Given the description of an element on the screen output the (x, y) to click on. 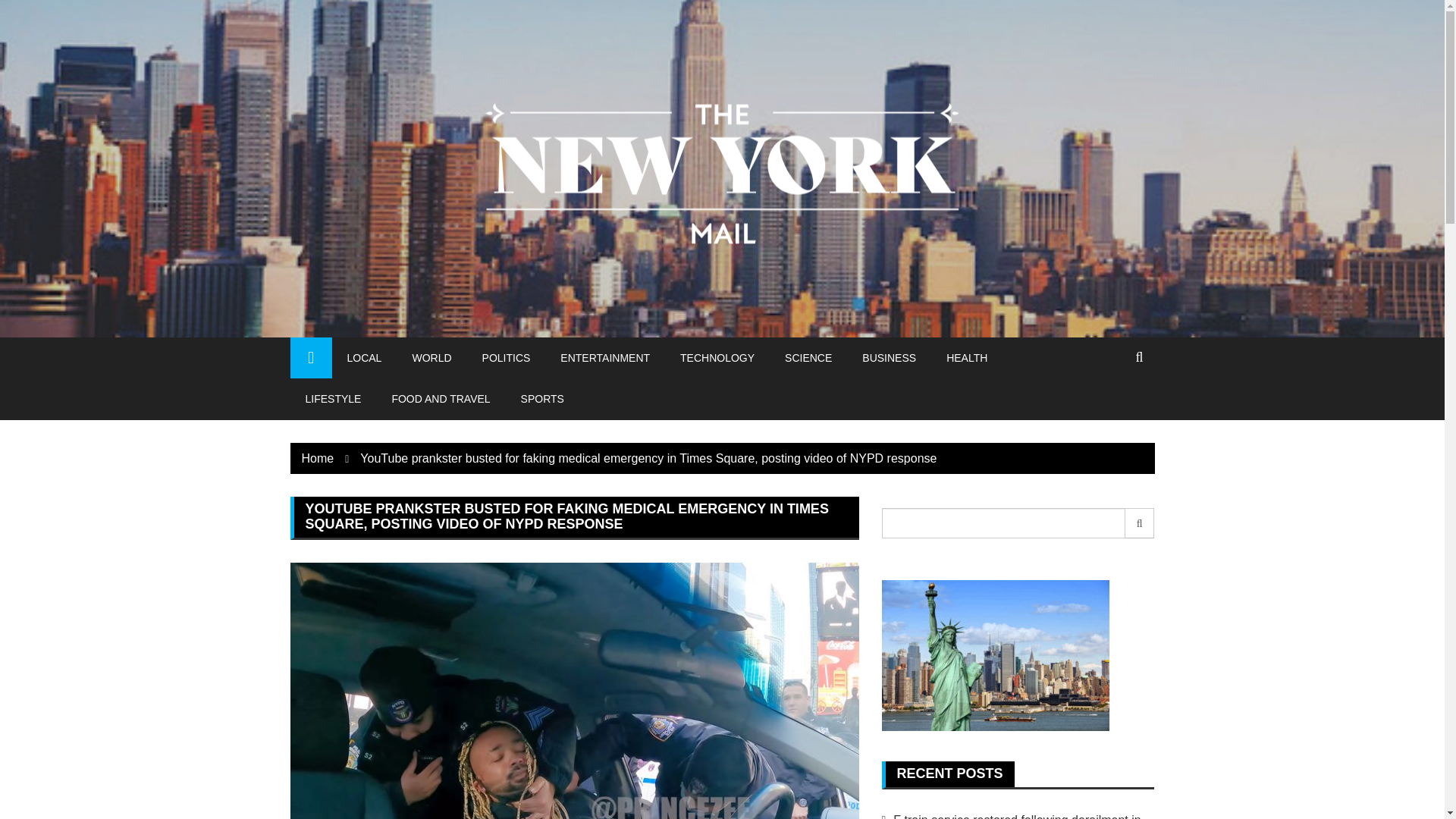
ENTERTAINMENT (604, 357)
SPORTS (542, 398)
FOOD AND TRAVEL (440, 398)
Home (317, 458)
LIFESTYLE (332, 398)
BUSINESS (889, 357)
Search (1139, 522)
LOCAL (364, 357)
